Given the description of an element on the screen output the (x, y) to click on. 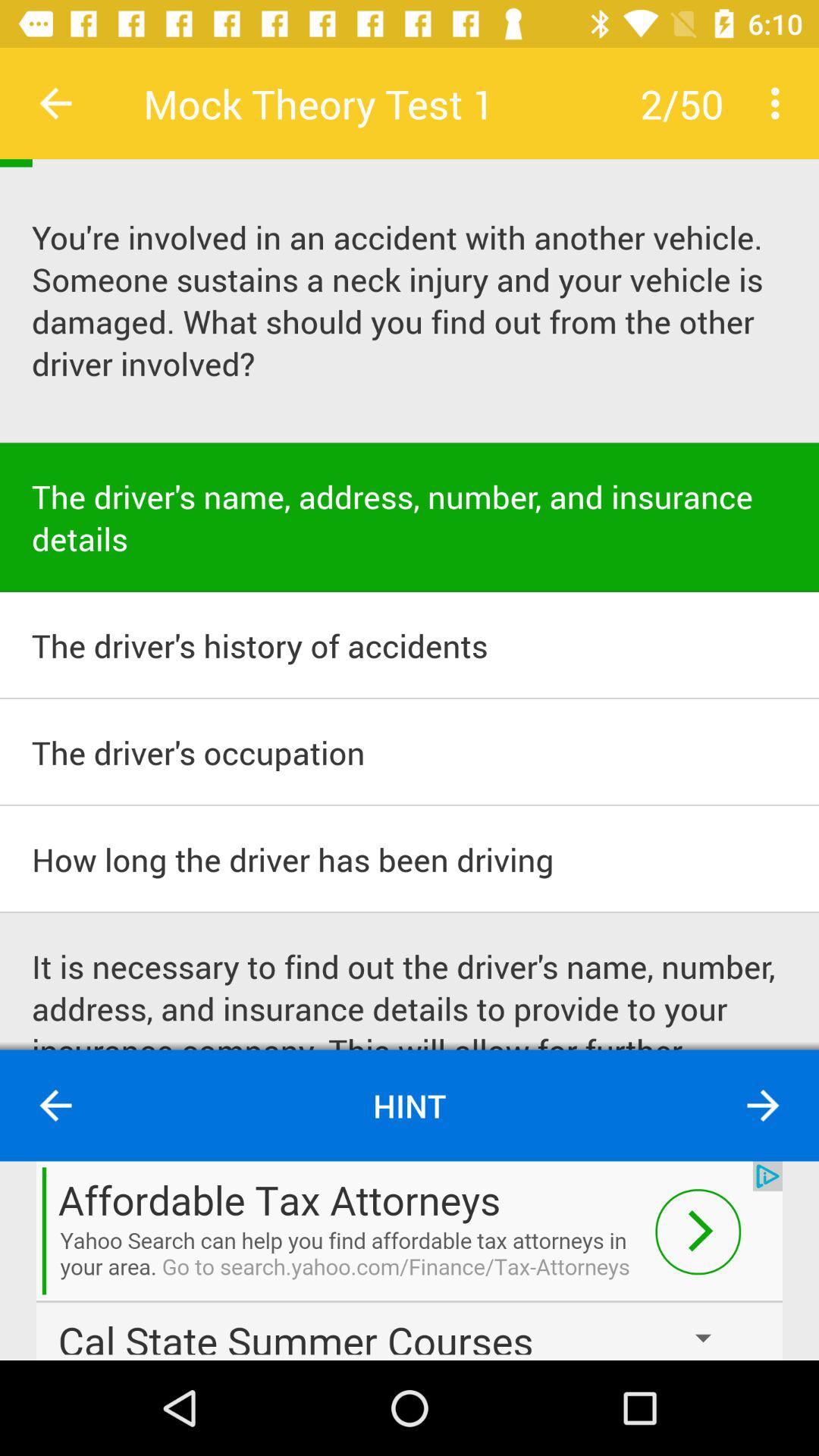
go to previous (55, 103)
